Given the description of an element on the screen output the (x, y) to click on. 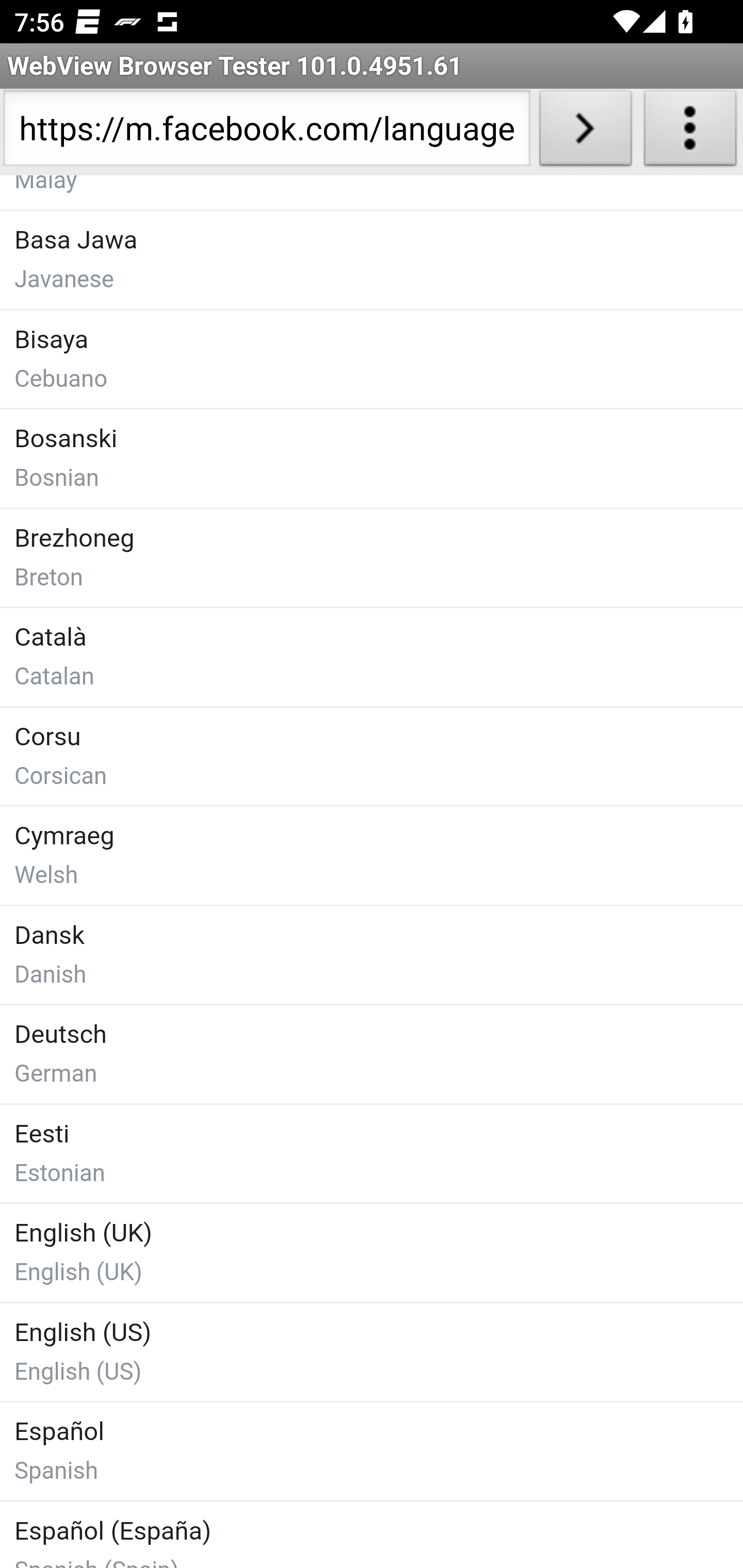
Load URL (585, 132)
About WebView (690, 132)
Basa JawaJavanese (371, 260)
BisayaCebuano (371, 358)
BosanskiBosnian (371, 458)
BrezhonegBreton (371, 556)
CatalàCatalan (371, 656)
CorsuCorsican (371, 755)
CymraegWelsh (371, 855)
DanskDanish (371, 953)
DeutschGerman (371, 1054)
EestiEstonian (371, 1151)
English (UK)English (UK) (371, 1252)
English (US)English (US) (371, 1349)
EspañolSpanish (371, 1451)
Español (España)Spanish (Spain) (371, 1533)
